Given the description of an element on the screen output the (x, y) to click on. 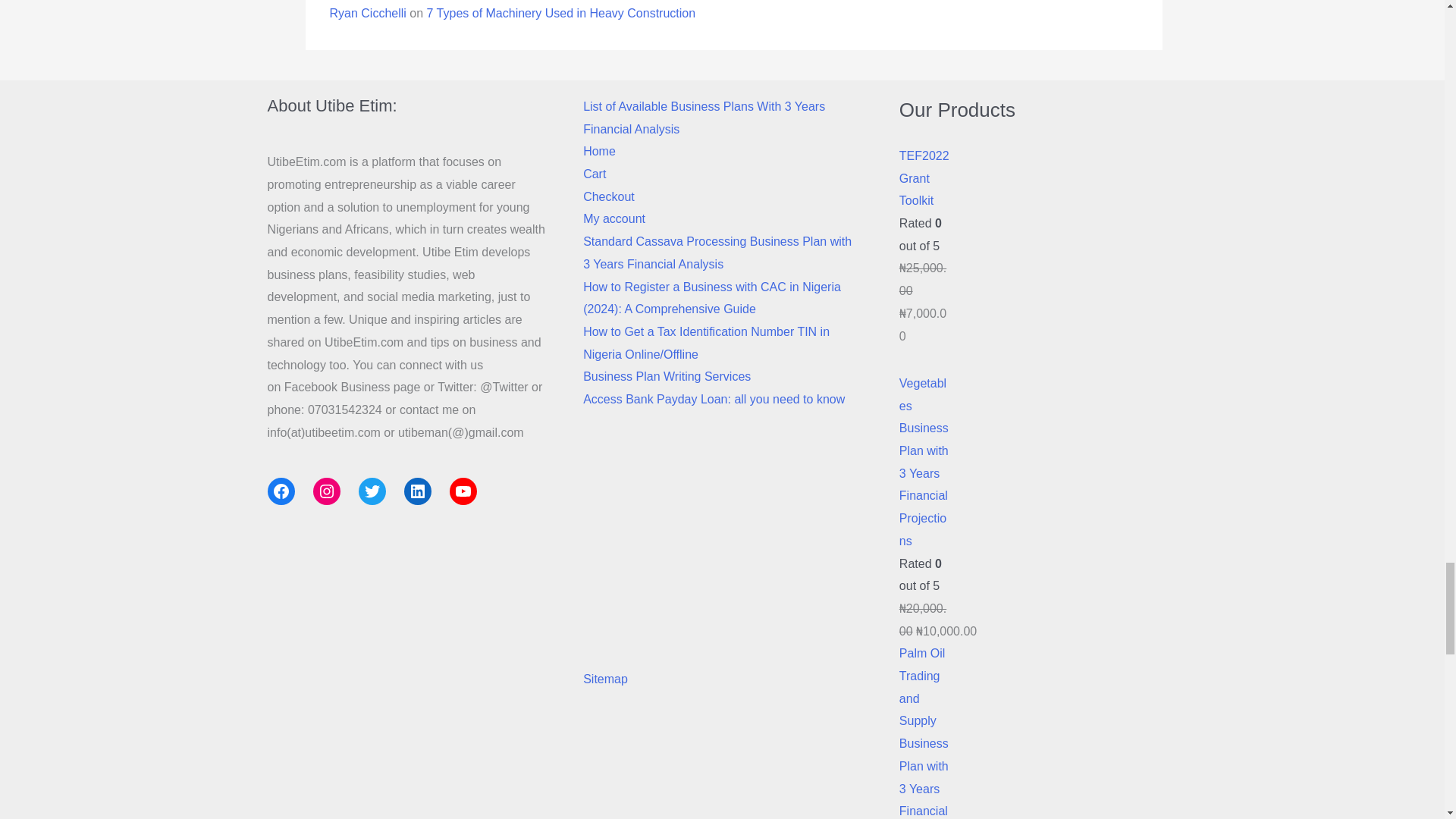
Best Business blogs (721, 539)
